Given the description of an element on the screen output the (x, y) to click on. 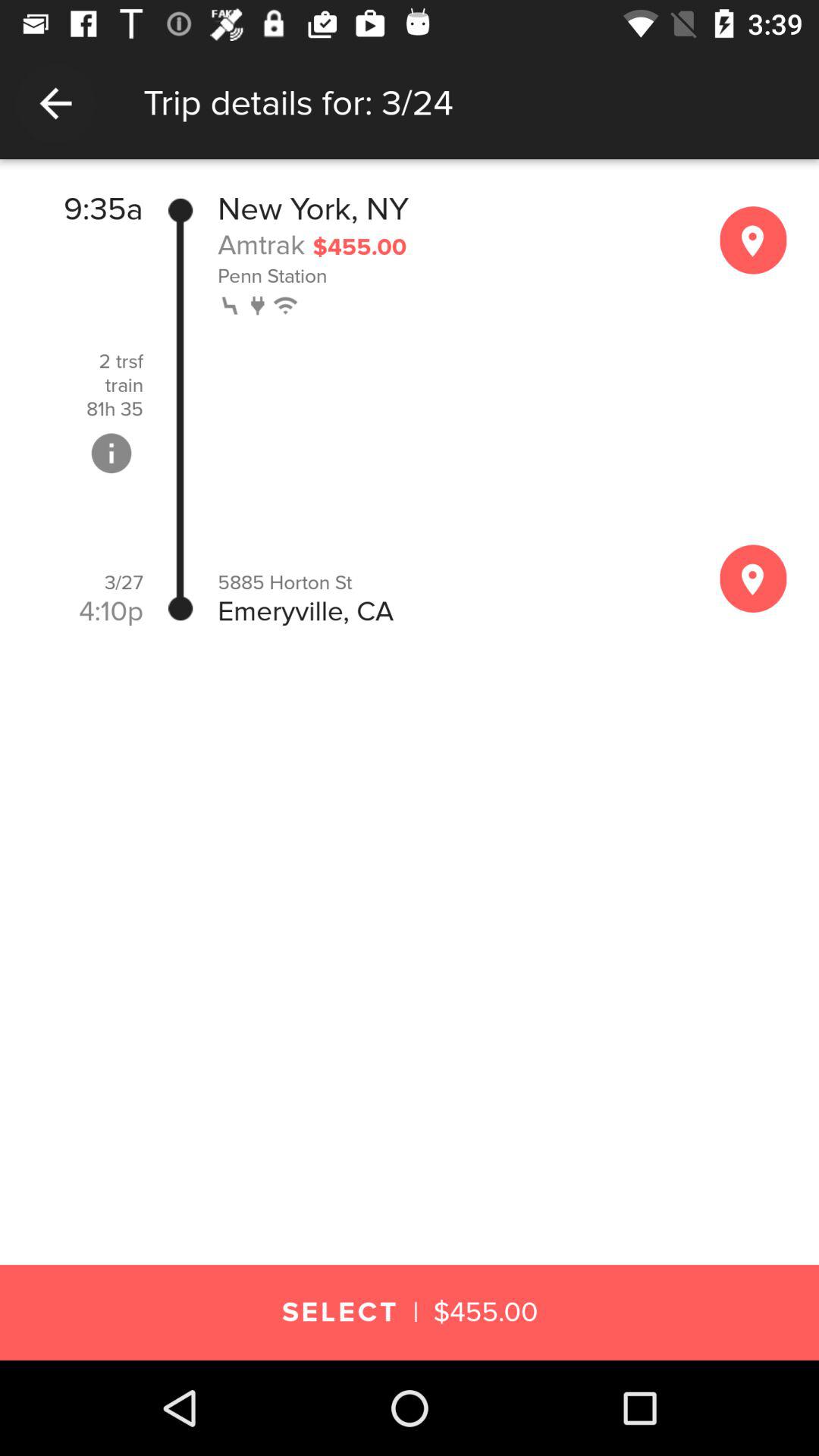
scroll until the 4:10p item (111, 611)
